Given the description of an element on the screen output the (x, y) to click on. 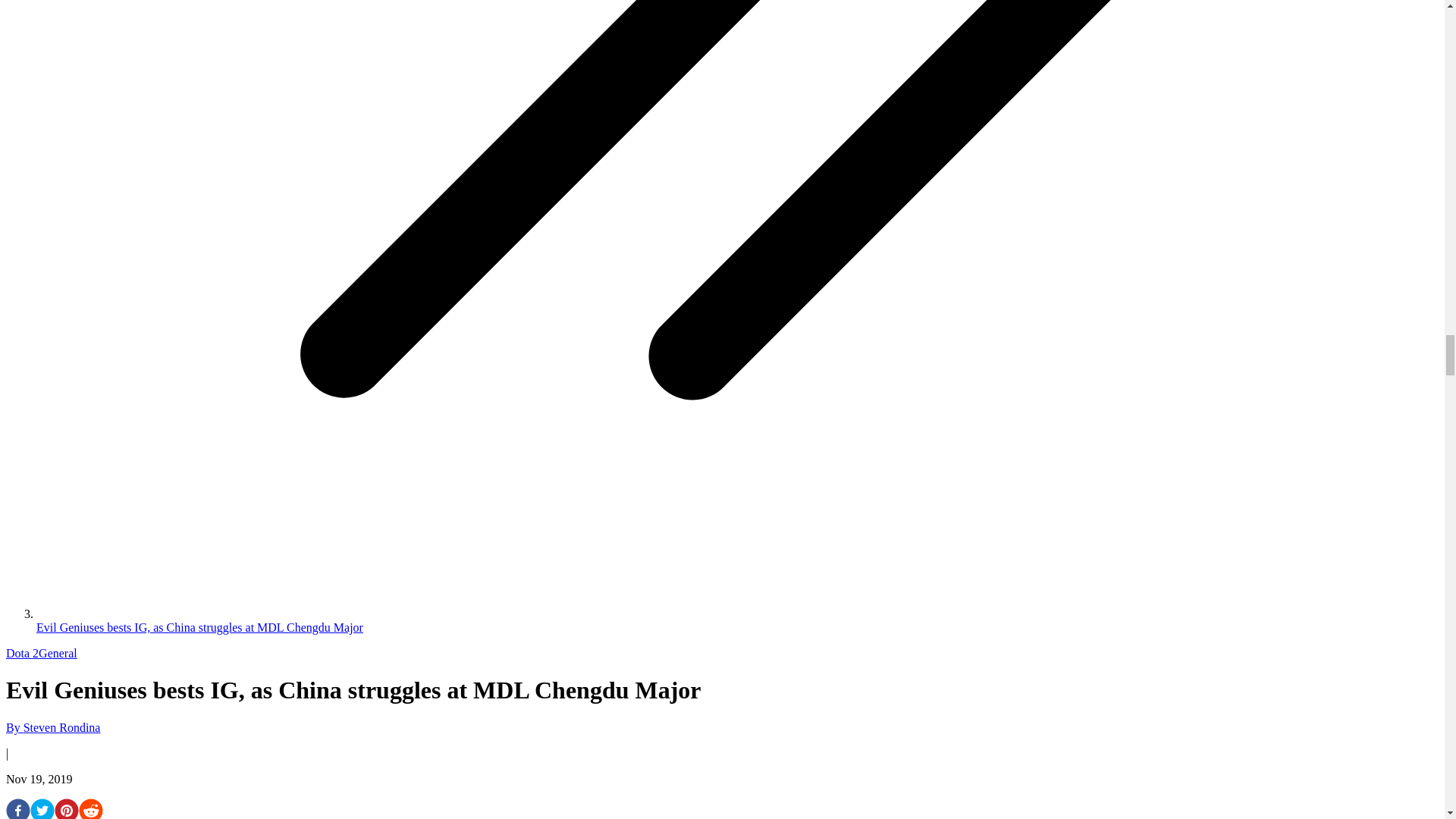
General (58, 653)
By Steven Rondina (52, 727)
Dota 2 (22, 653)
